Given the description of an element on the screen output the (x, y) to click on. 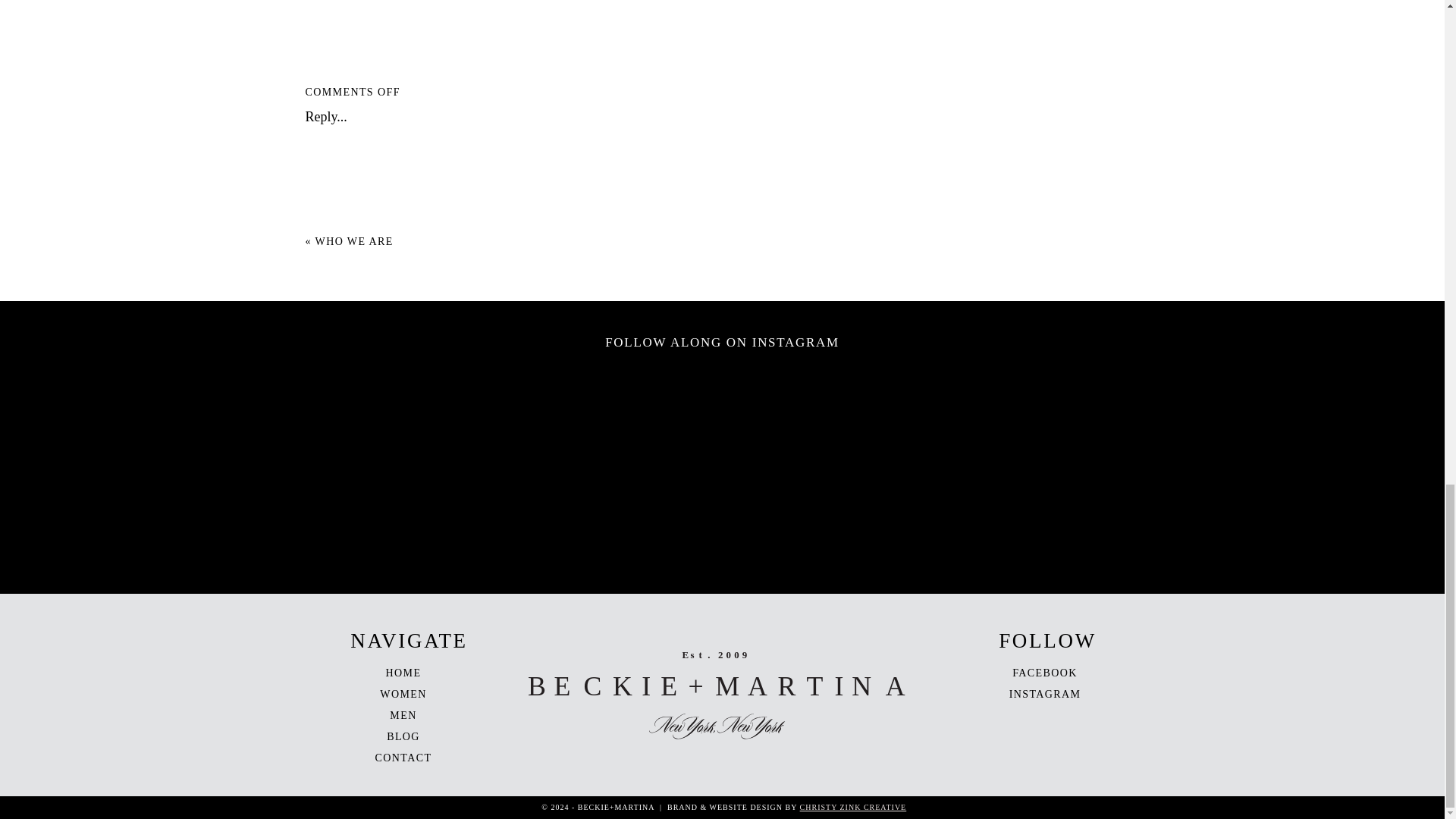
CHRISTY ZINK CREATIVE (853, 807)
WOMEN (403, 694)
BLOG (403, 736)
WHO WE ARE (354, 241)
HOME (403, 672)
MEN (403, 715)
CONTACT (403, 757)
FACEBOOK (1044, 672)
INSTAGRAM (1045, 694)
